Given the description of an element on the screen output the (x, y) to click on. 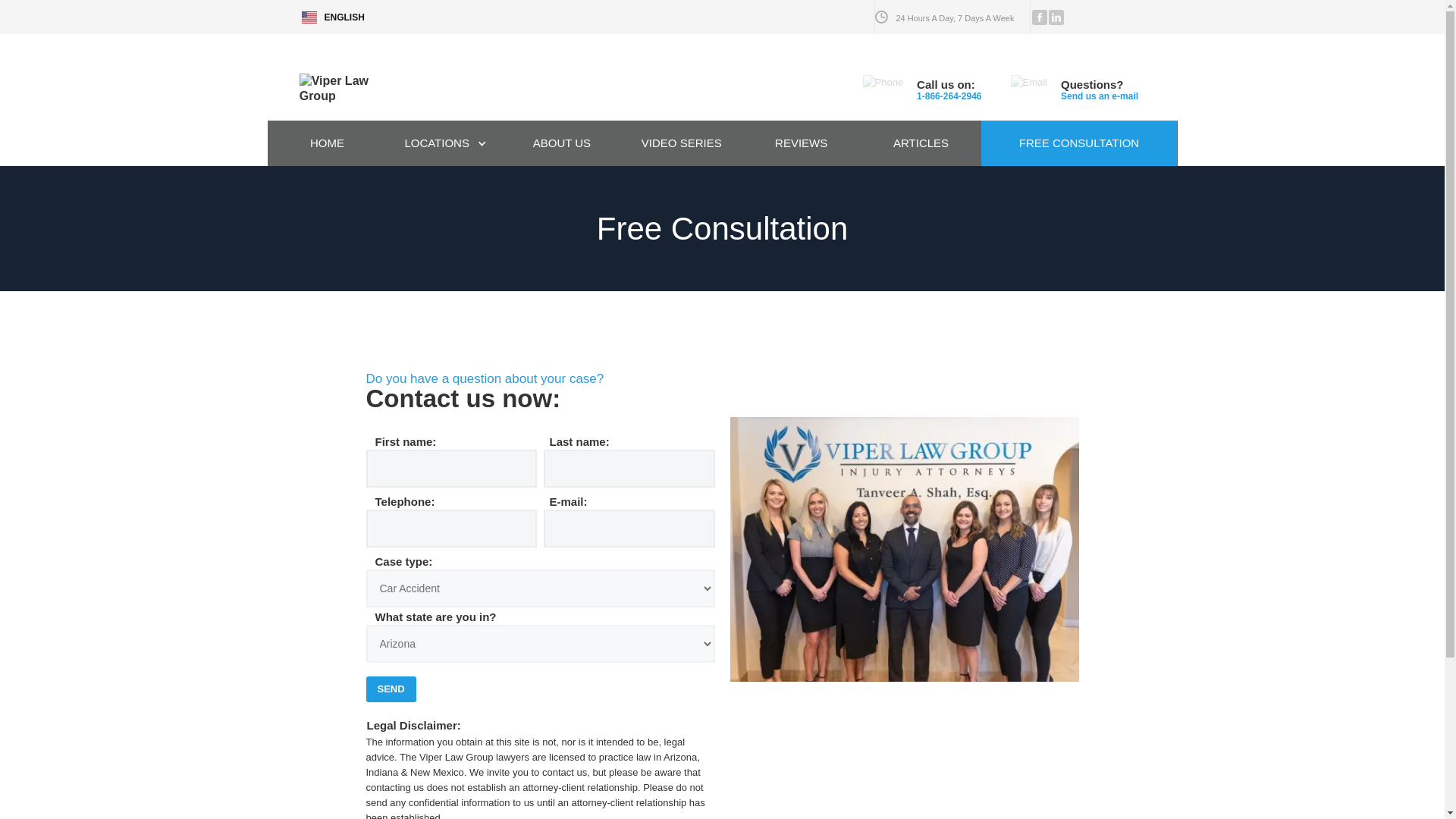
1-866-264-2946 (949, 95)
Legal Disclaimer: (539, 725)
VIDEO SERIES (681, 143)
SEND (389, 688)
Send us an e-mail (1099, 95)
HOME (326, 143)
REVIEWS (801, 143)
SEND (389, 688)
ARTICLES (921, 143)
FREE CONSULTATION (1079, 143)
